Given the description of an element on the screen output the (x, y) to click on. 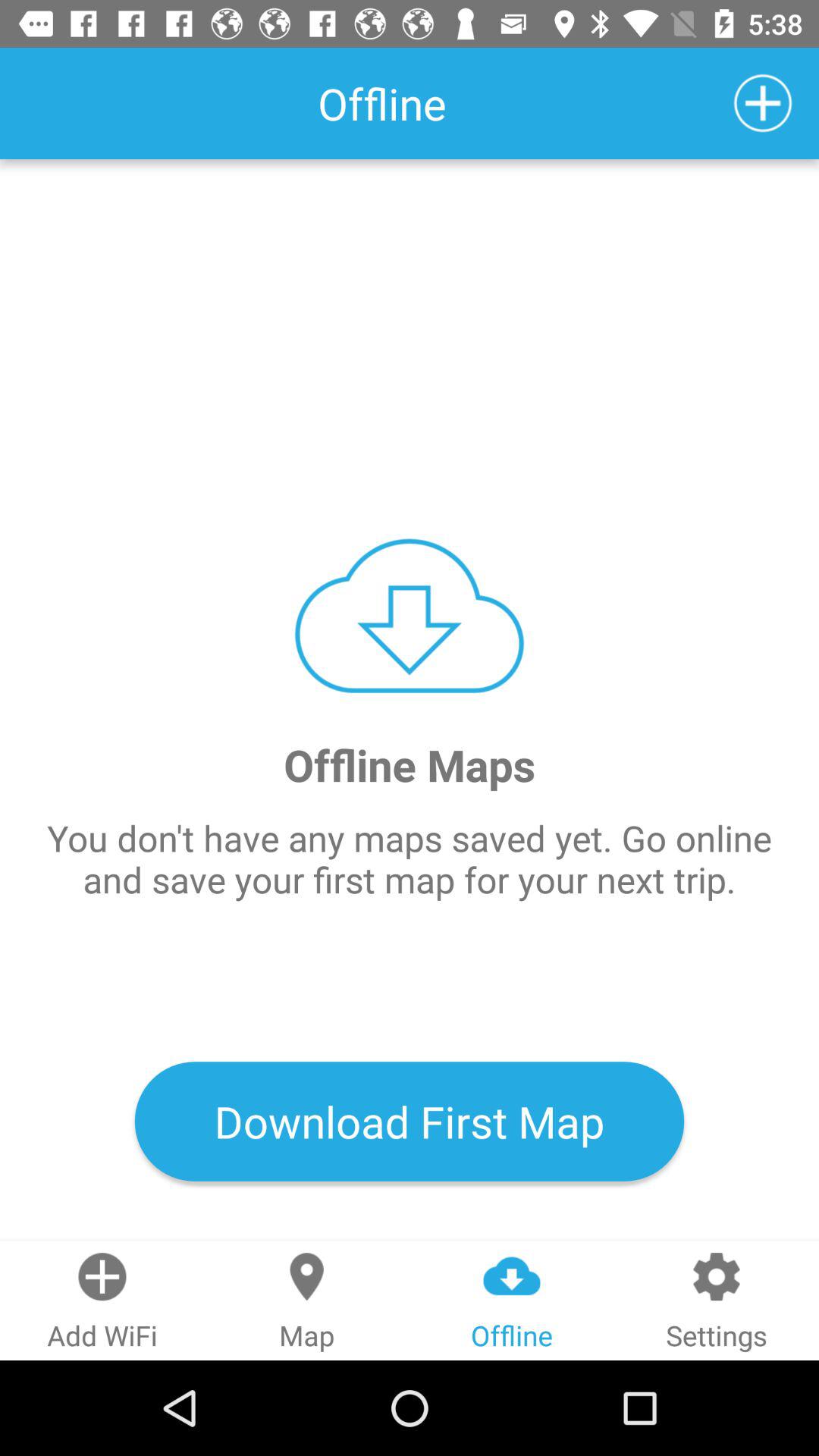
click the icon which says map (306, 1300)
click on the text left side to the icon plus (382, 103)
click on the icon which is at top right corner (763, 103)
go to top of offline (511, 1276)
click on settings icon (716, 1300)
